Given the description of an element on the screen output the (x, y) to click on. 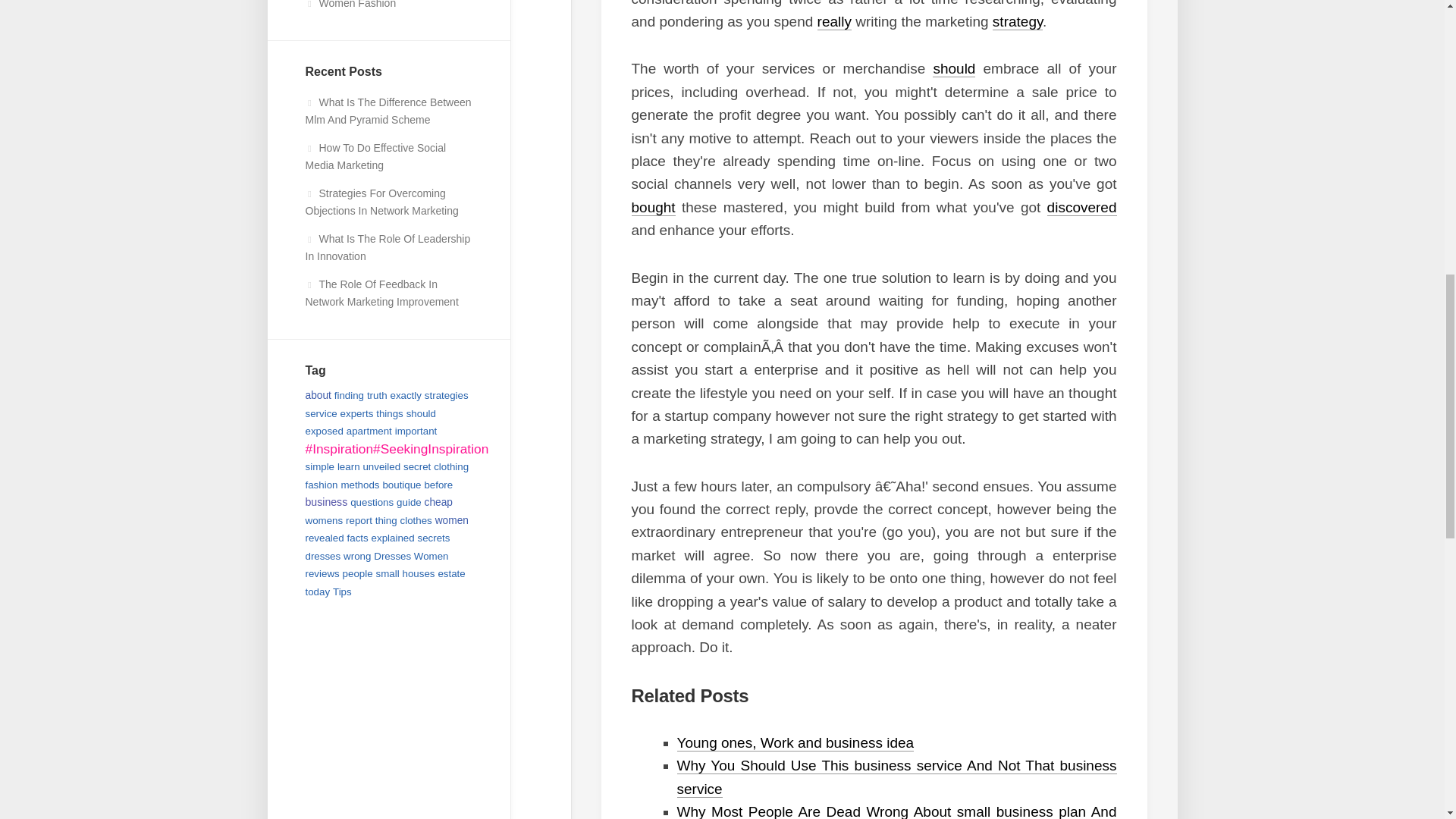
13 topics (319, 466)
15 topics (376, 395)
about (317, 395)
methods (359, 484)
9 topics (446, 395)
80 topics (368, 430)
16 topics (348, 466)
exactly (405, 395)
secret (416, 466)
11 topics (357, 413)
unveiled (381, 466)
truth (376, 395)
The Role Of Feedback In Network Marketing Improvement (381, 293)
12 topics (405, 395)
strategies (446, 395)
